Given the description of an element on the screen output the (x, y) to click on. 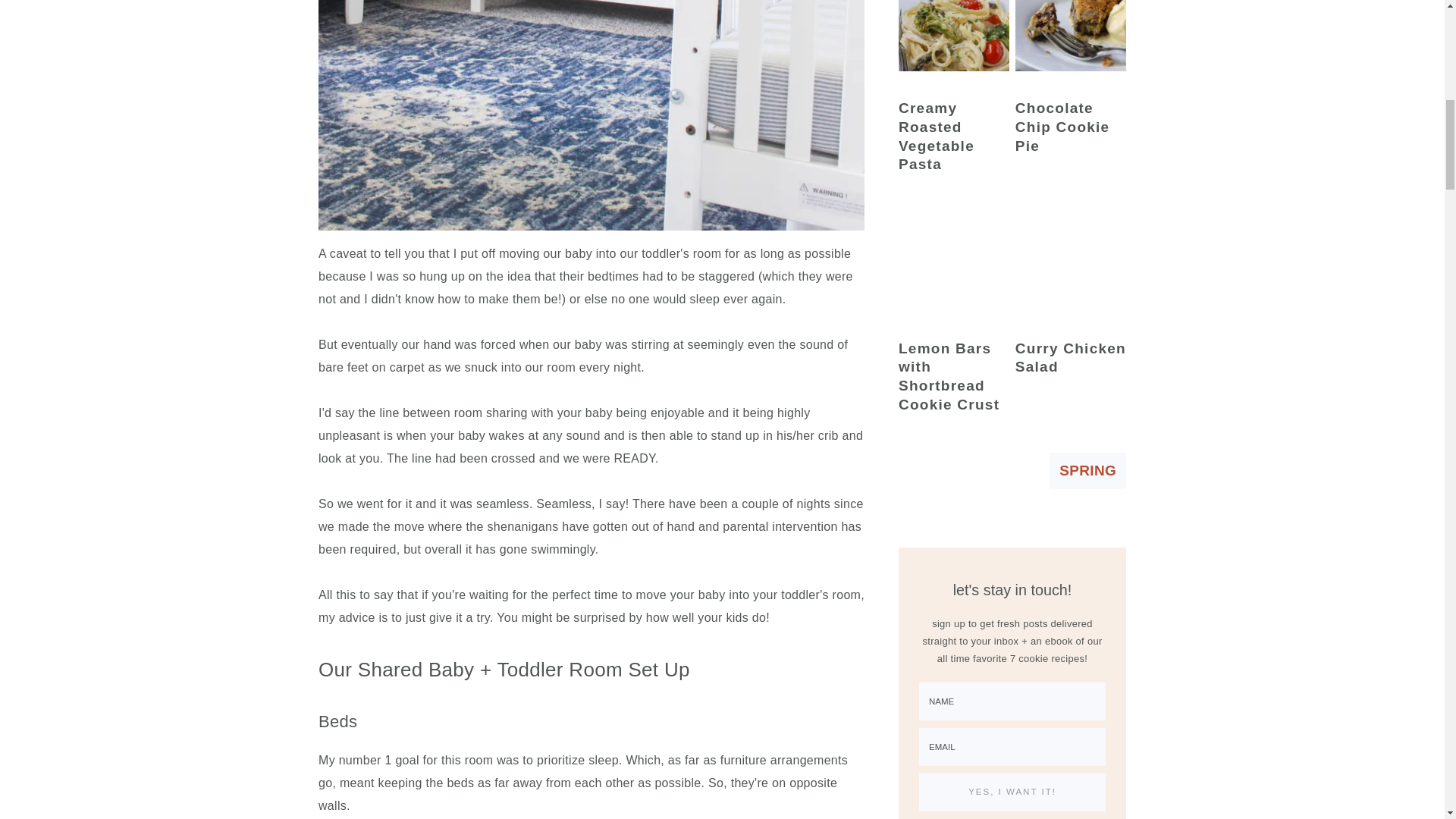
Lemon Bars with Shortbread Cookie Crust (953, 257)
Chocolate Chip Cookie Pie (1069, 38)
Spring (1087, 470)
Curry Chicken Salad (1069, 257)
YES, I WANT IT! (1011, 792)
Creamy Roasted Vegetable Pasta (953, 38)
